Given the description of an element on the screen output the (x, y) to click on. 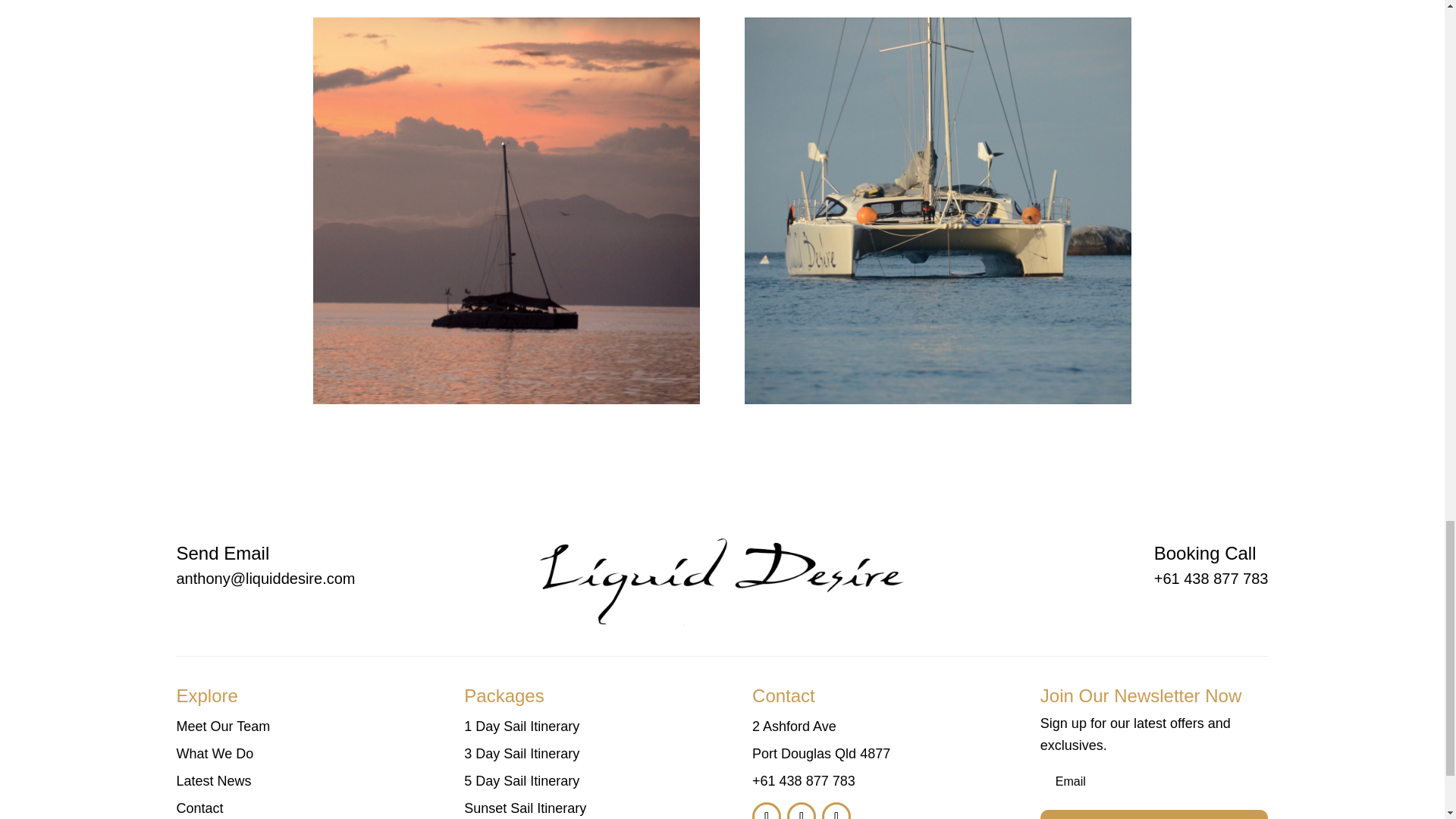
Follow on Youtube (836, 810)
Follow on Instagram (801, 810)
Follow on Facebook (766, 810)
liquiddesirelogo (722, 565)
